Given the description of an element on the screen output the (x, y) to click on. 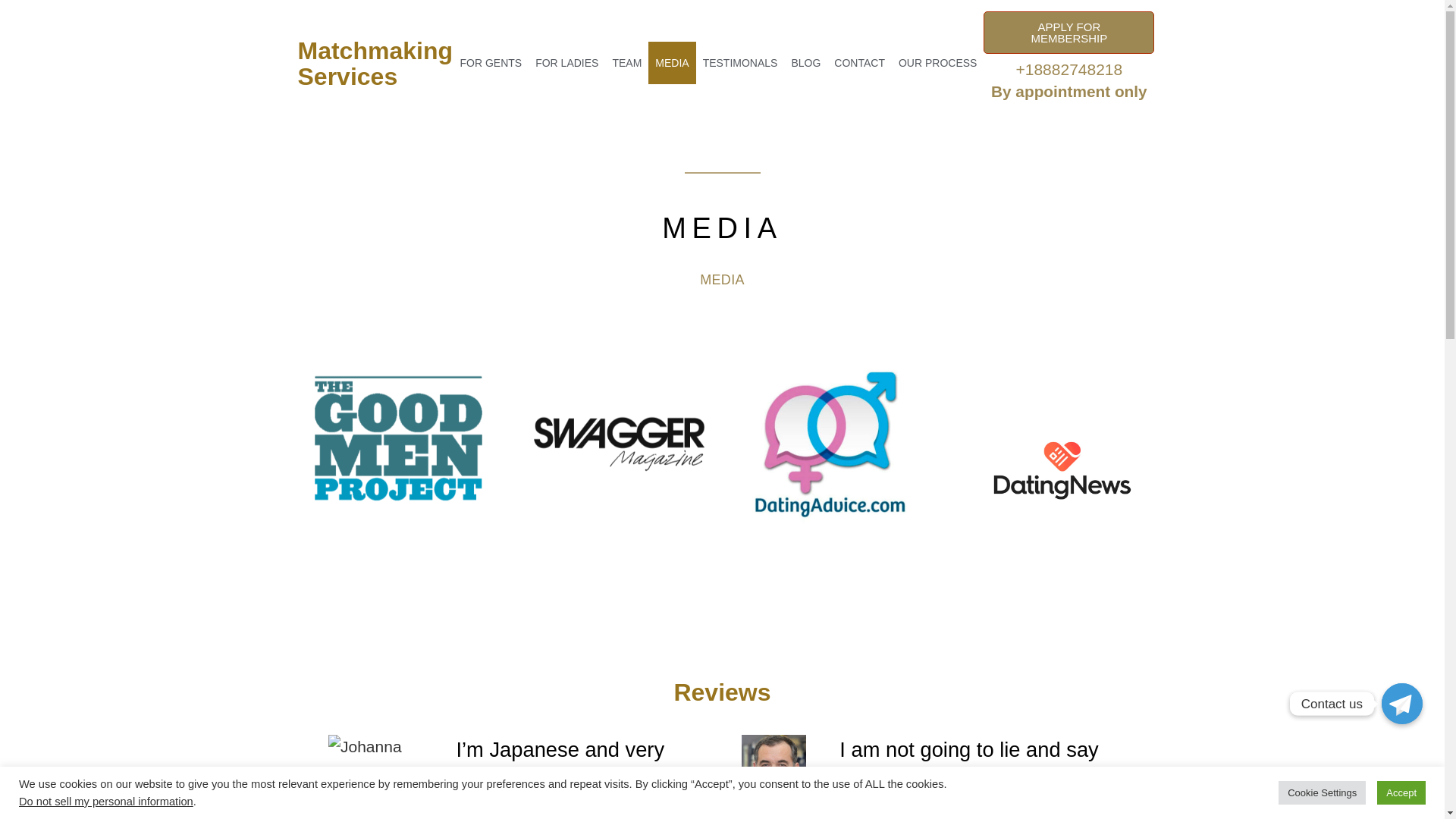
Matchmaking Services Element type: text (374, 63)
CONTACT Element type: text (859, 62)
TEAM Element type: text (626, 62)
MEDIA Element type: text (671, 62)
Cookie Settings Element type: text (1321, 792)
FOR GENTS Element type: text (490, 62)
Do not sell my personal information Element type: text (105, 801)
BLOG Element type: text (805, 62)
+18882748218 Element type: text (1068, 69)
Accept Element type: text (1401, 792)
TESTIMONALS Element type: text (740, 62)
Contact us Element type: text (1401, 703)
FOR LADIES Element type: text (566, 62)
APPLY FOR MEMBERSHIP Element type: text (1068, 32)
OUR PROCESS Element type: text (937, 62)
